Given the description of an element on the screen output the (x, y) to click on. 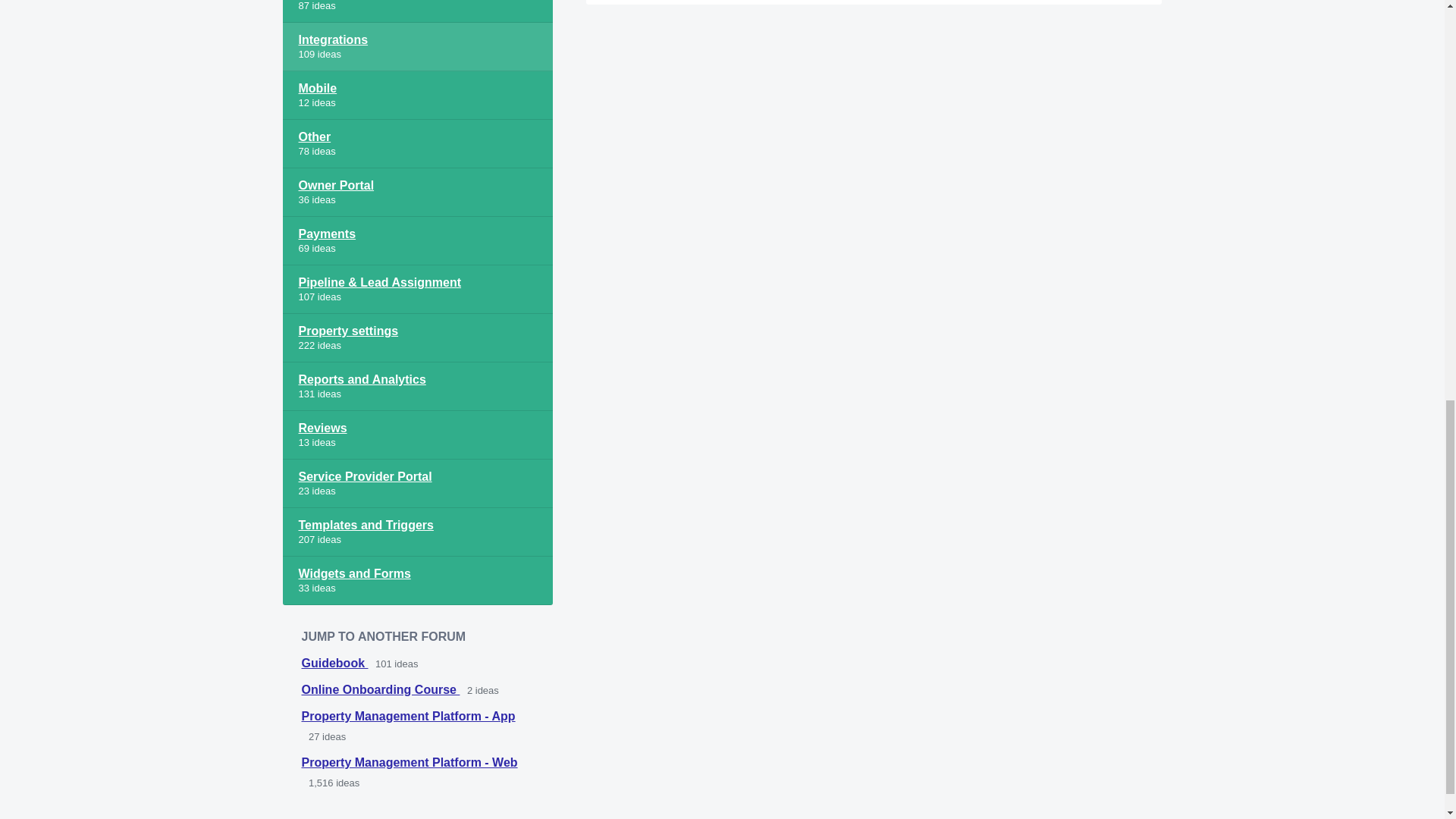
Property settings (417, 337)
Owner Portal (417, 192)
Widgets and Forms (417, 580)
Reports and Analytics (417, 386)
View all ideas in category Property settings (417, 337)
Guidebook (334, 662)
Payments (417, 241)
View all ideas in category Owner Portal (417, 192)
Mobile (417, 95)
View all ideas in category Integrations (417, 46)
View all ideas in category Mobile (417, 95)
View all ideas in category Other (417, 143)
Inbox (417, 11)
Other (417, 143)
Templates and Triggers (417, 531)
